Given the description of an element on the screen output the (x, y) to click on. 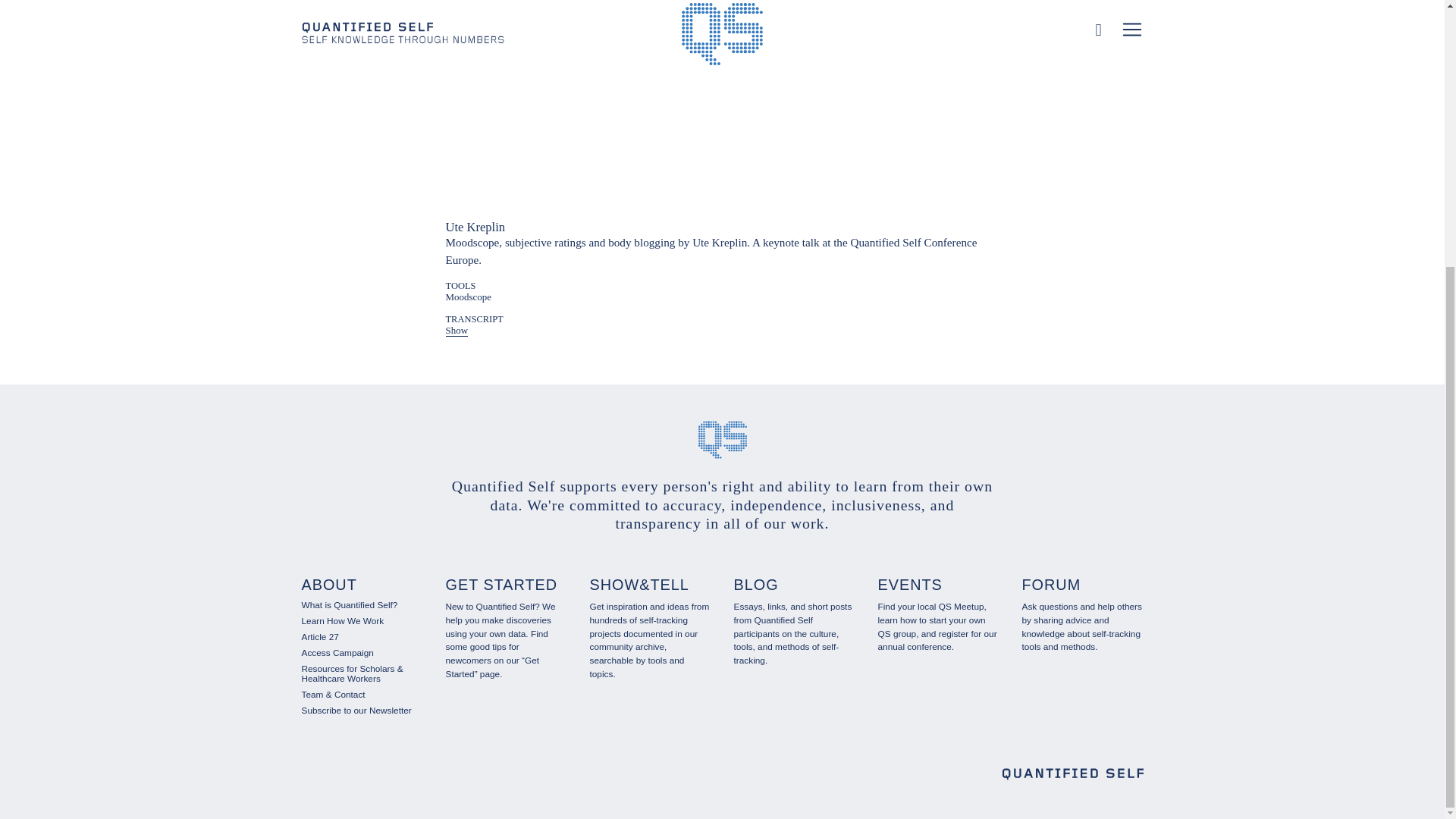
Learn How We Work (342, 620)
Subscribe to our Newsletter (356, 710)
What is Quantified Self? (349, 604)
Access Campaign (337, 652)
Article 27 (320, 636)
